Given the description of an element on the screen output the (x, y) to click on. 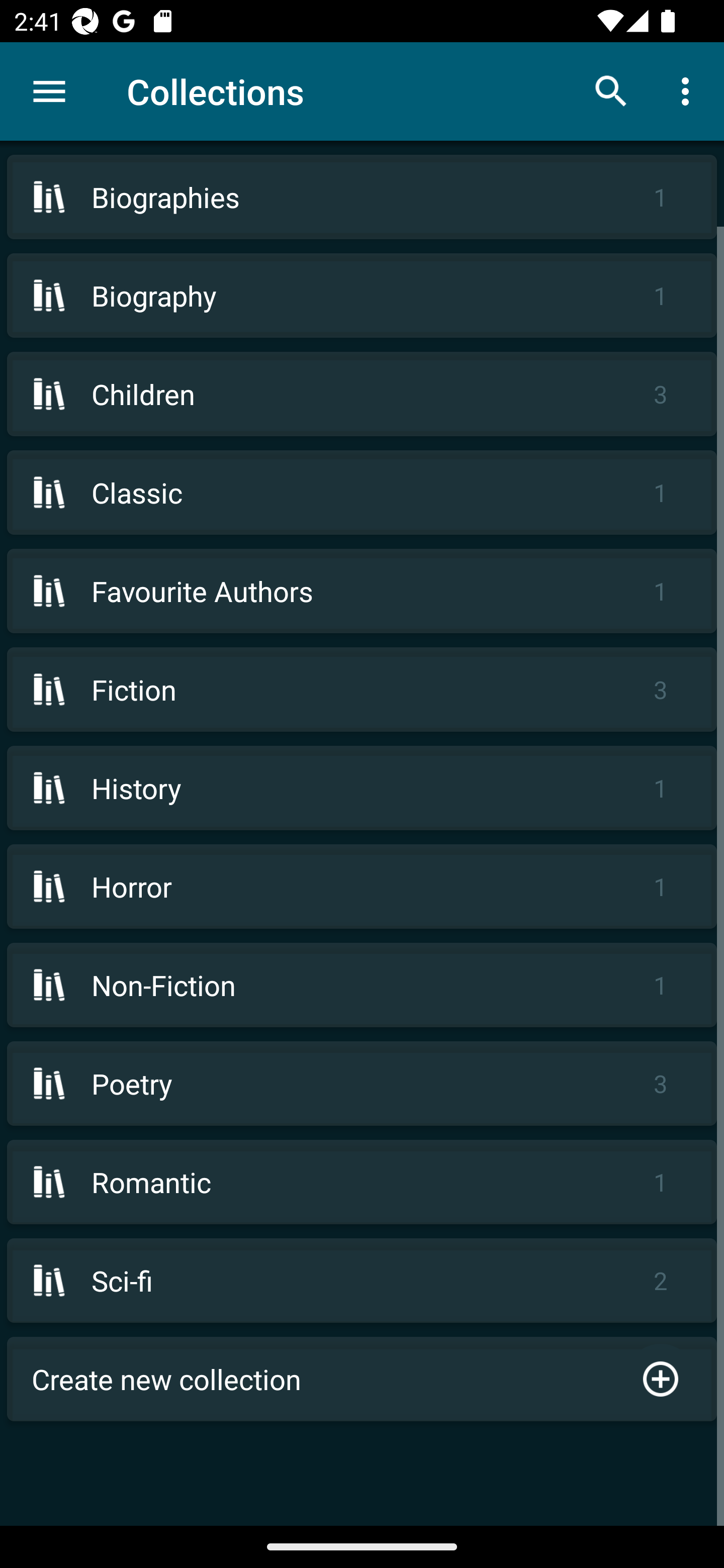
Menu (49, 91)
Search books & documents (611, 90)
More options (688, 90)
Biographies 1 (361, 197)
Biography 1 (361, 295)
Children 3 (361, 393)
Classic 1 (361, 492)
Favourite Authors 1 (361, 590)
Fiction 3 (361, 689)
History 1 (361, 787)
Horror 1 (361, 885)
Non-Fiction 1 (361, 984)
Poetry 3 (361, 1083)
Romantic 1 (361, 1181)
Sci-fi 2 (361, 1280)
Create new collection (361, 1378)
